Given the description of an element on the screen output the (x, y) to click on. 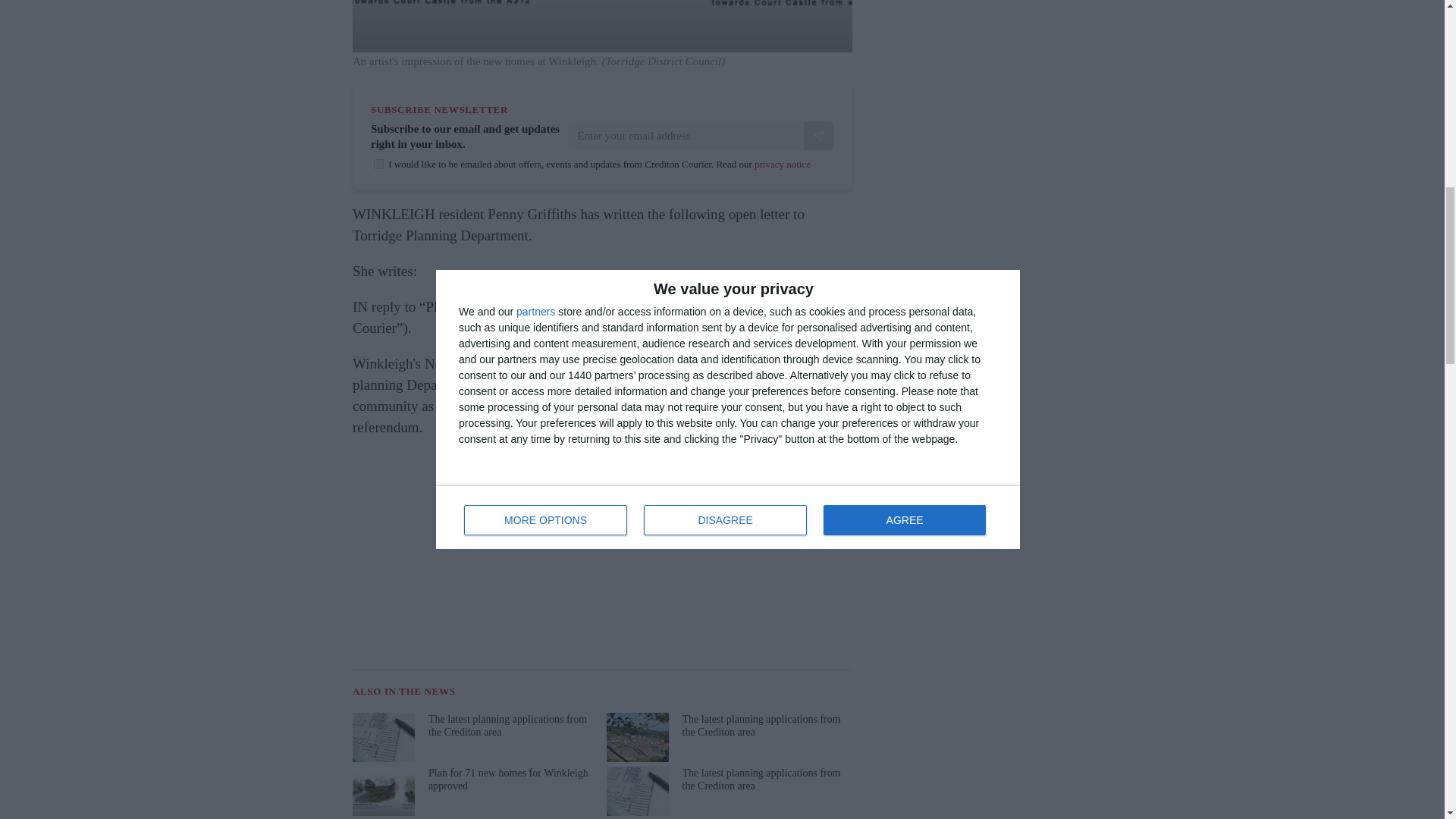
The latest planning applications from the Crediton area (473, 737)
Plan for 71 new homes for Winkleigh approved (473, 790)
The latest planning applications from the Crediton area (727, 737)
privacy notice (782, 163)
The latest planning applications from the Crediton area (727, 790)
